Given the description of an element on the screen output the (x, y) to click on. 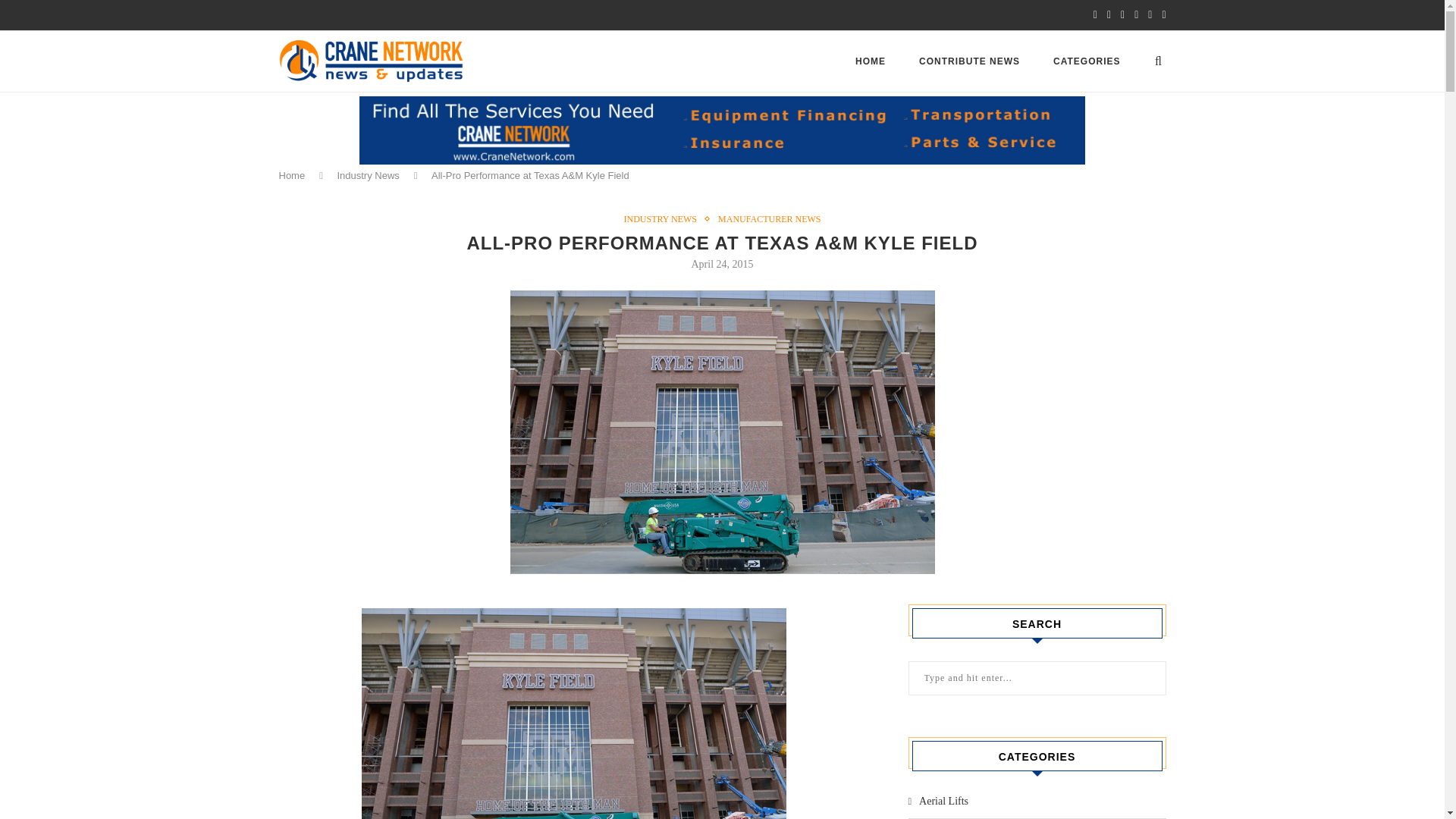
View all posts in Industry News (663, 218)
View all posts in Manufacturer News (769, 218)
CONTRIBUTE NEWS (969, 61)
